Given the description of an element on the screen output the (x, y) to click on. 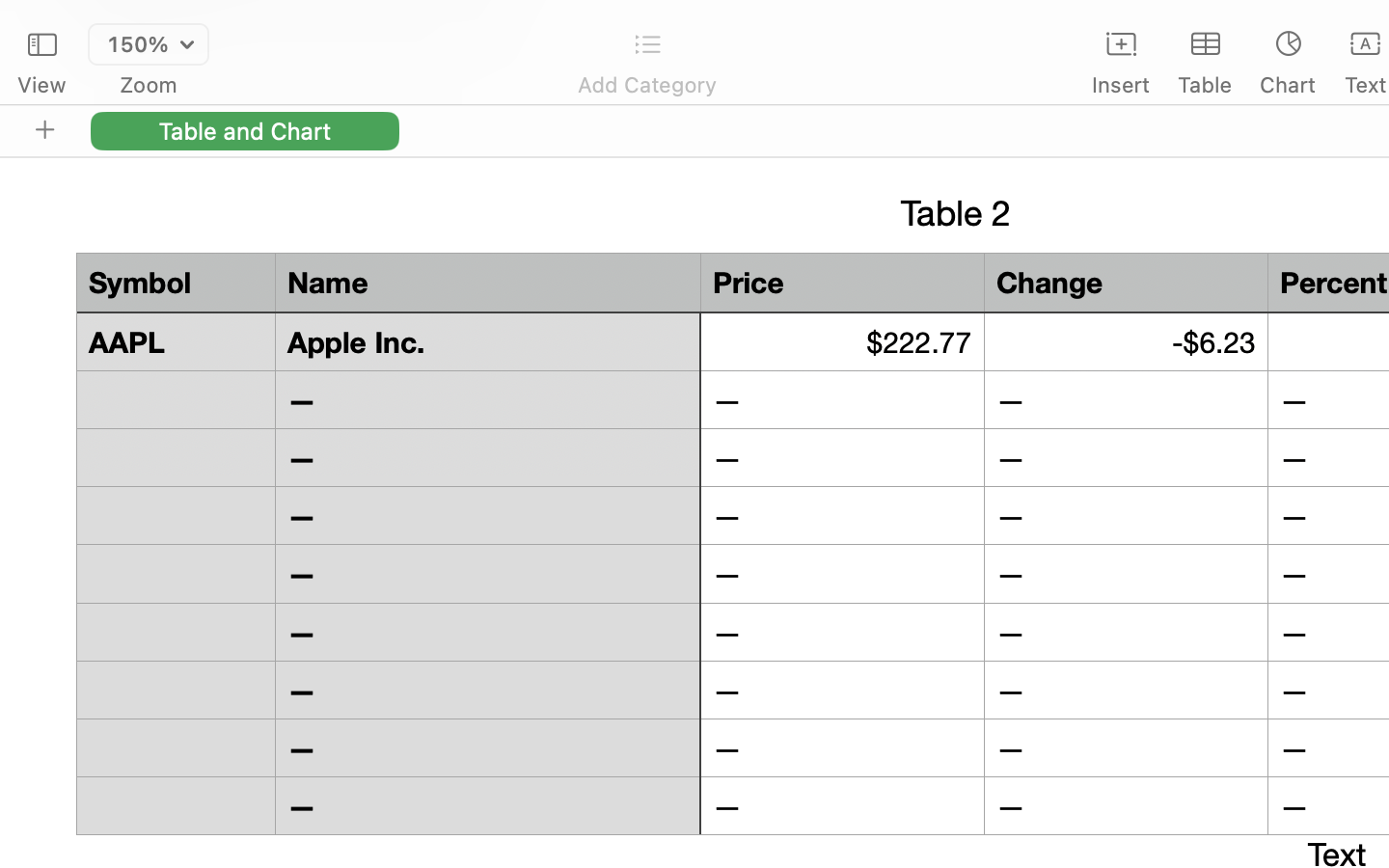
Untitled Element type: AXStaticText (1334, 24)
